Given the description of an element on the screen output the (x, y) to click on. 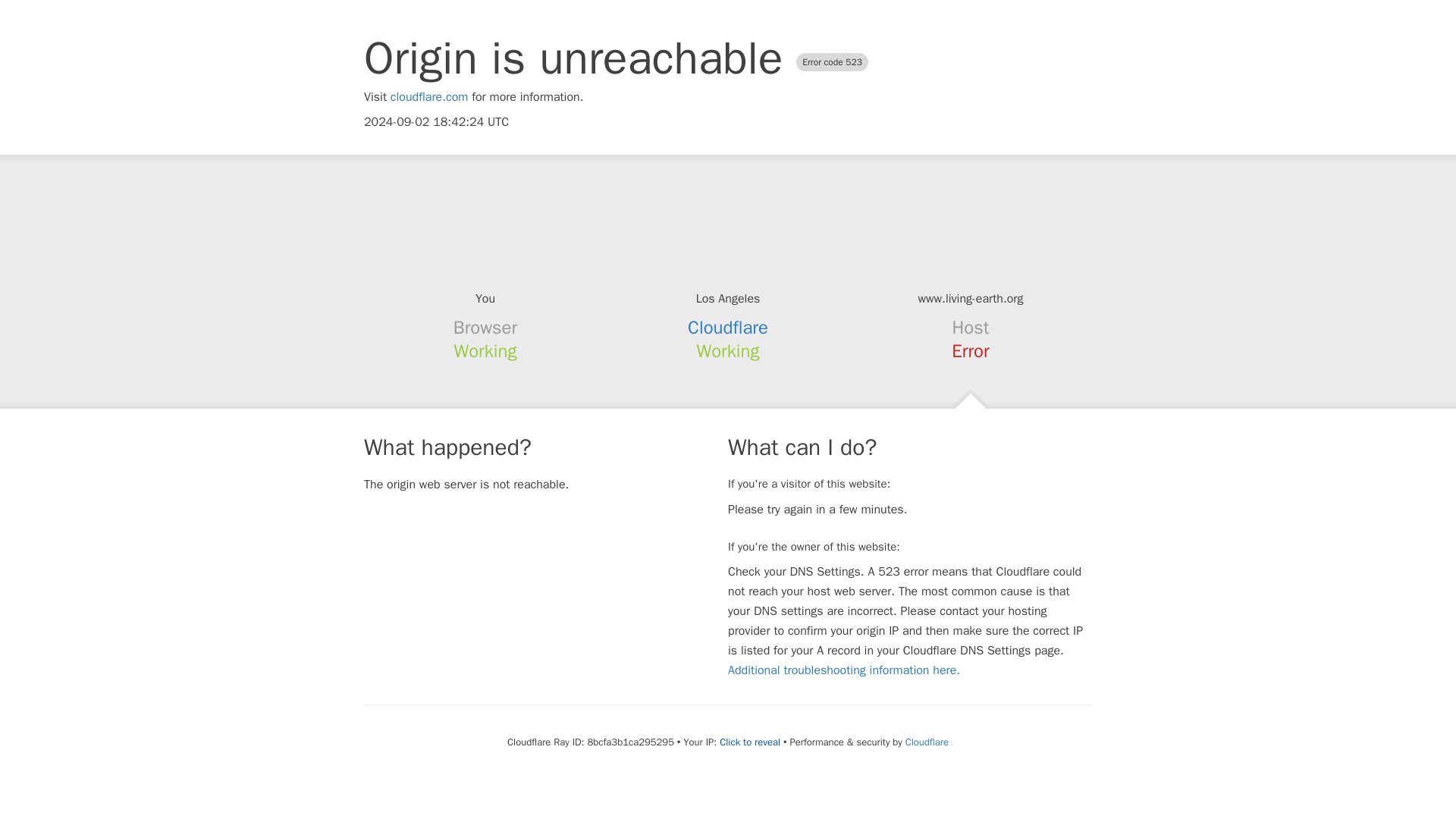
Additional troubleshooting information here. (843, 670)
Click to reveal (749, 742)
Cloudflare (927, 741)
Cloudflare (727, 327)
cloudflare.com (429, 96)
